Given the description of an element on the screen output the (x, y) to click on. 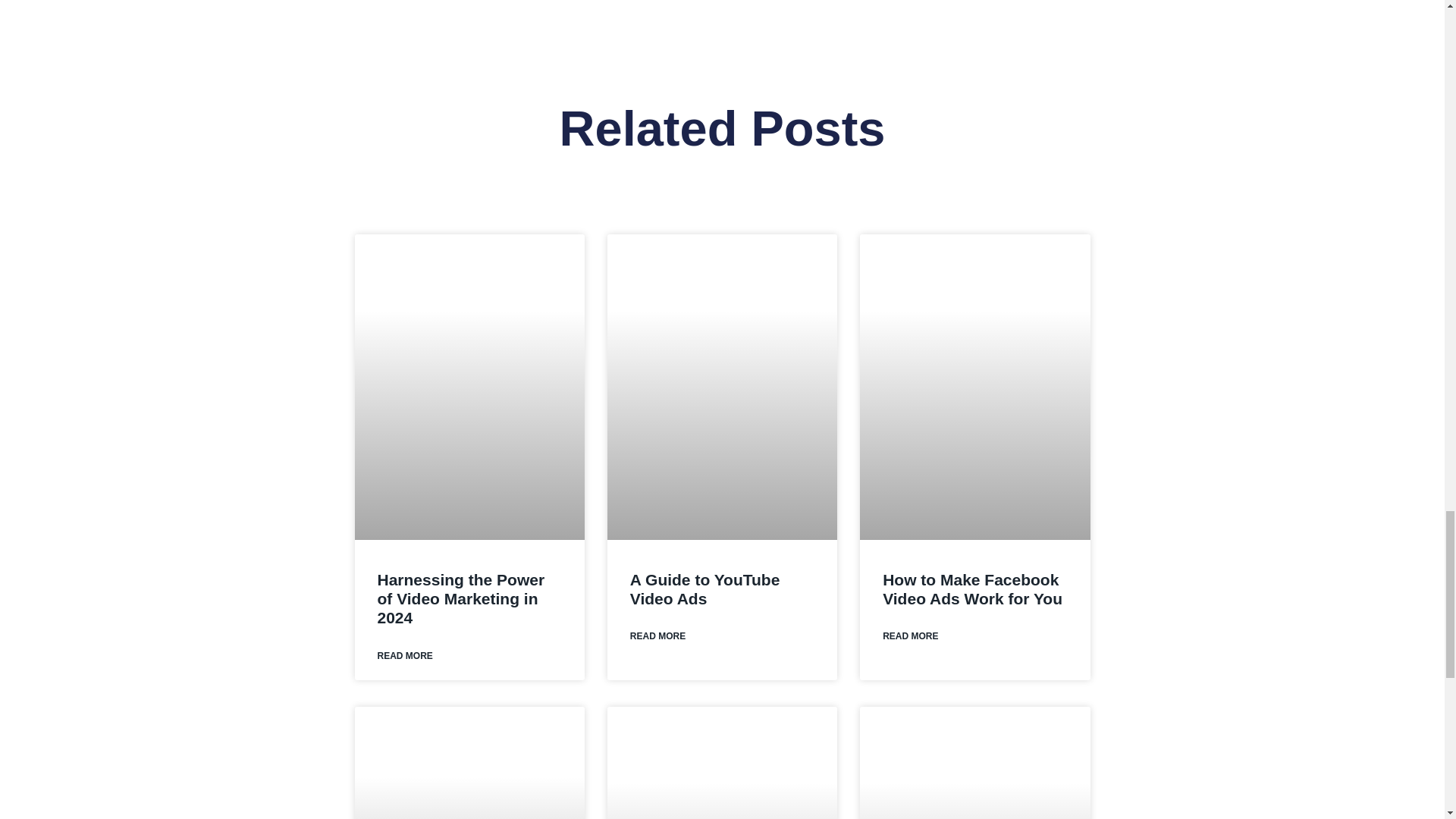
Harnessing the Power of Video Marketing in 2024 (460, 598)
READ MORE (404, 656)
